Given the description of an element on the screen output the (x, y) to click on. 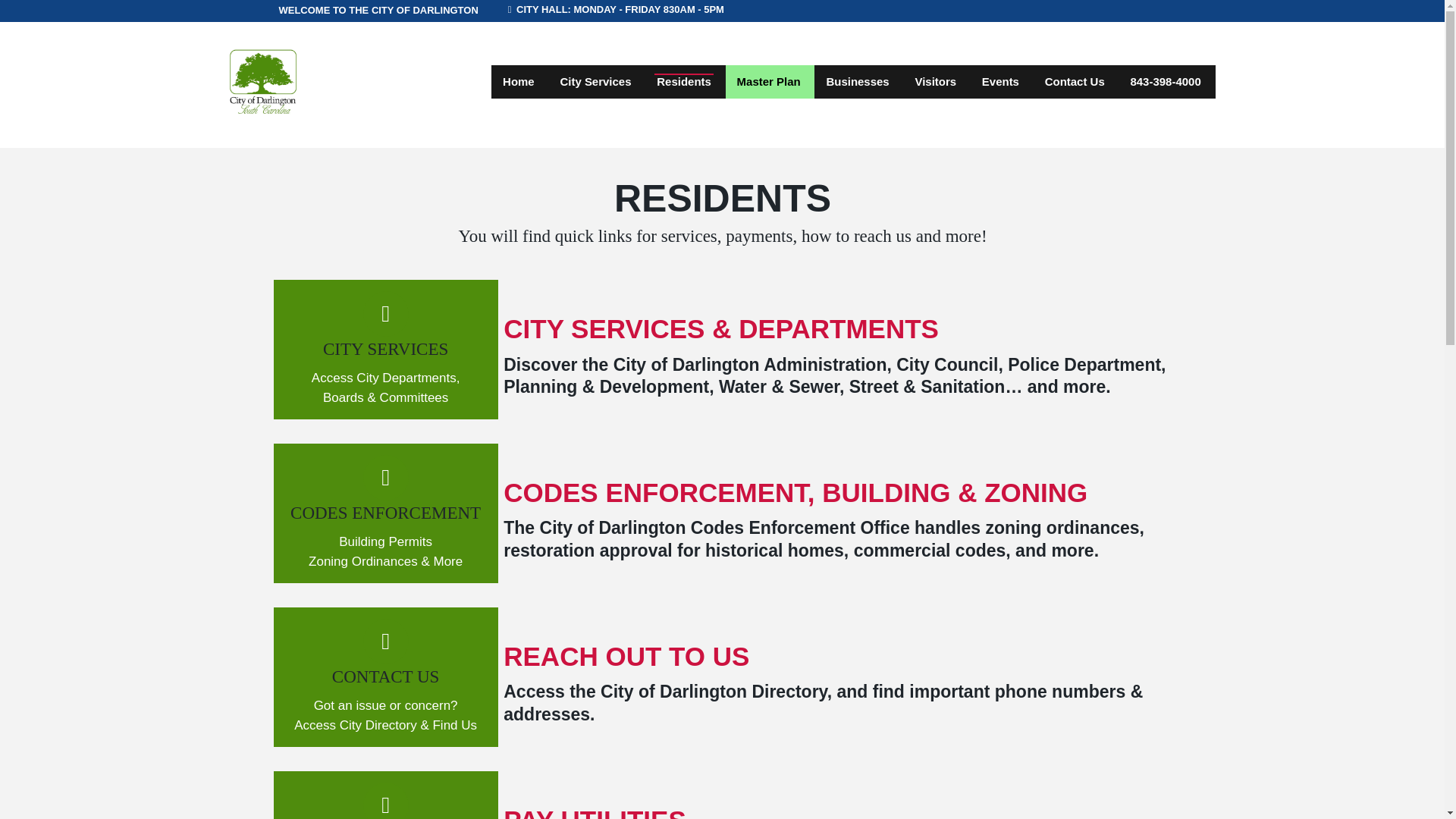
CONTACT US (385, 676)
Residents (683, 82)
Home (519, 82)
Contact Us (1074, 82)
Businesses (856, 82)
City Services (595, 82)
Visitors (935, 82)
CODES ENFORCEMENT (384, 512)
CITY SERVICES (385, 348)
Events (1000, 82)
